Given the description of an element on the screen output the (x, y) to click on. 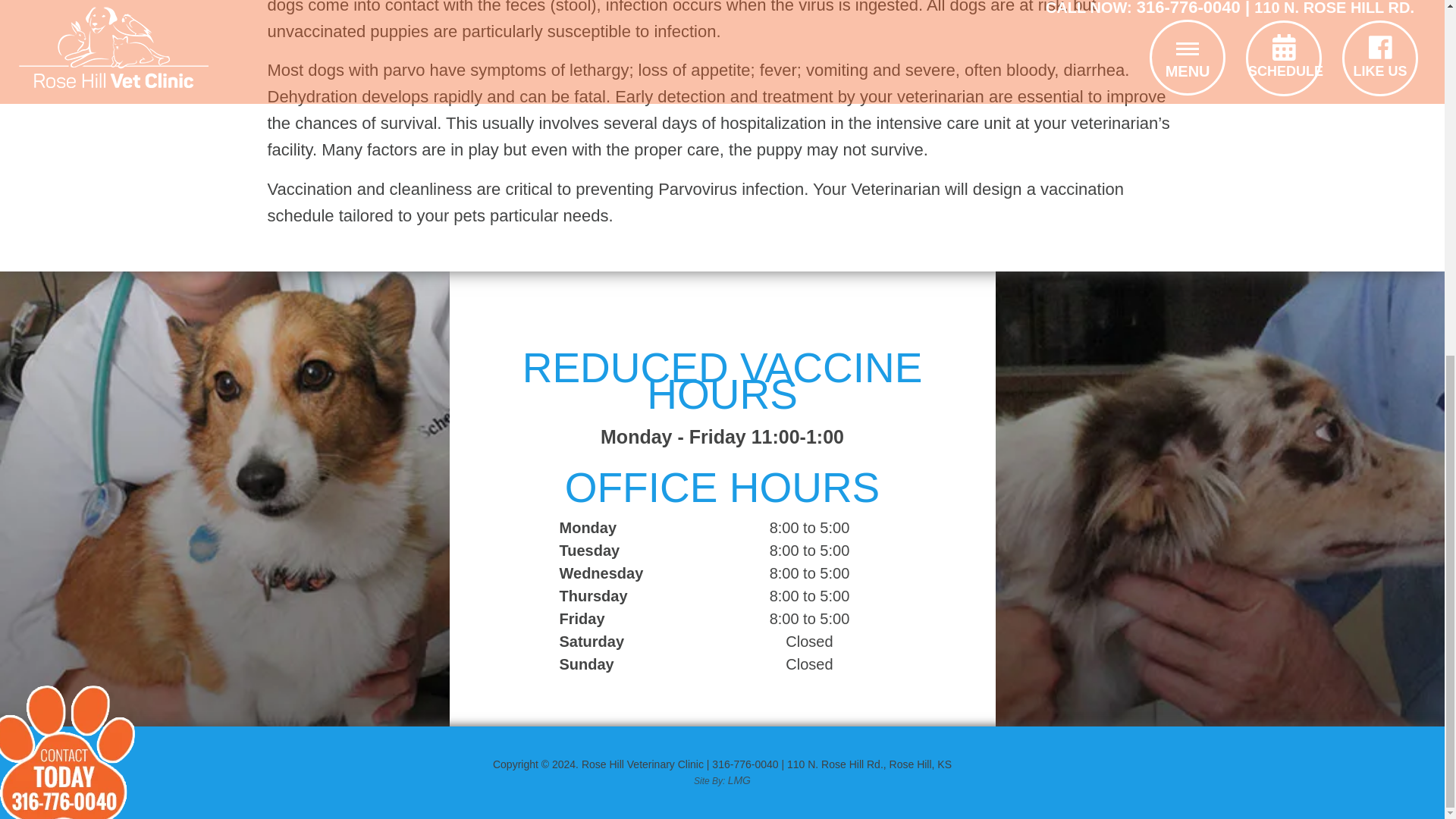
110 N. Rose Hill Rd., Rose Hill, KS (869, 764)
